Given the description of an element on the screen output the (x, y) to click on. 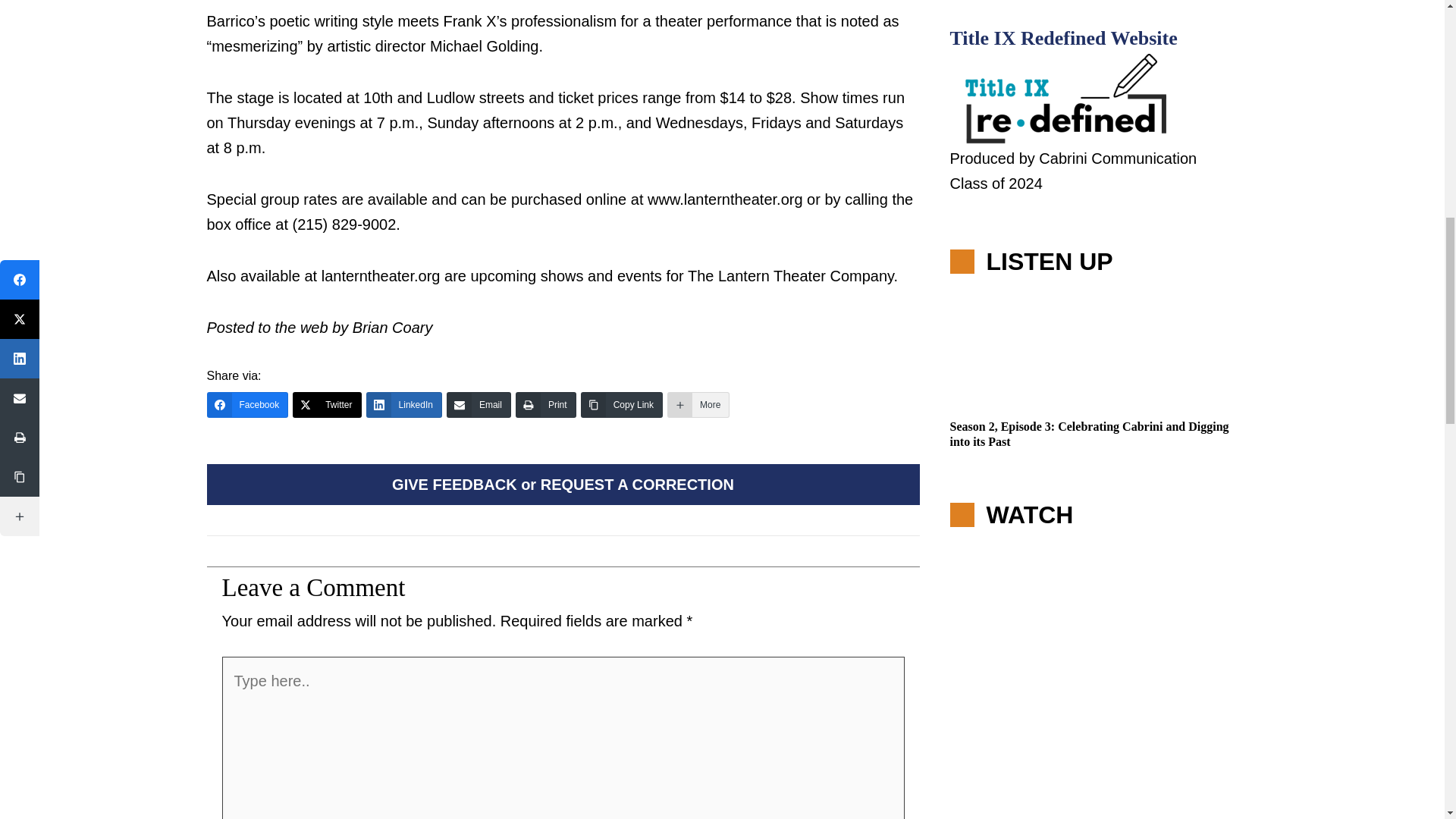
YouTube video player (1093, 676)
